Given the description of an element on the screen output the (x, y) to click on. 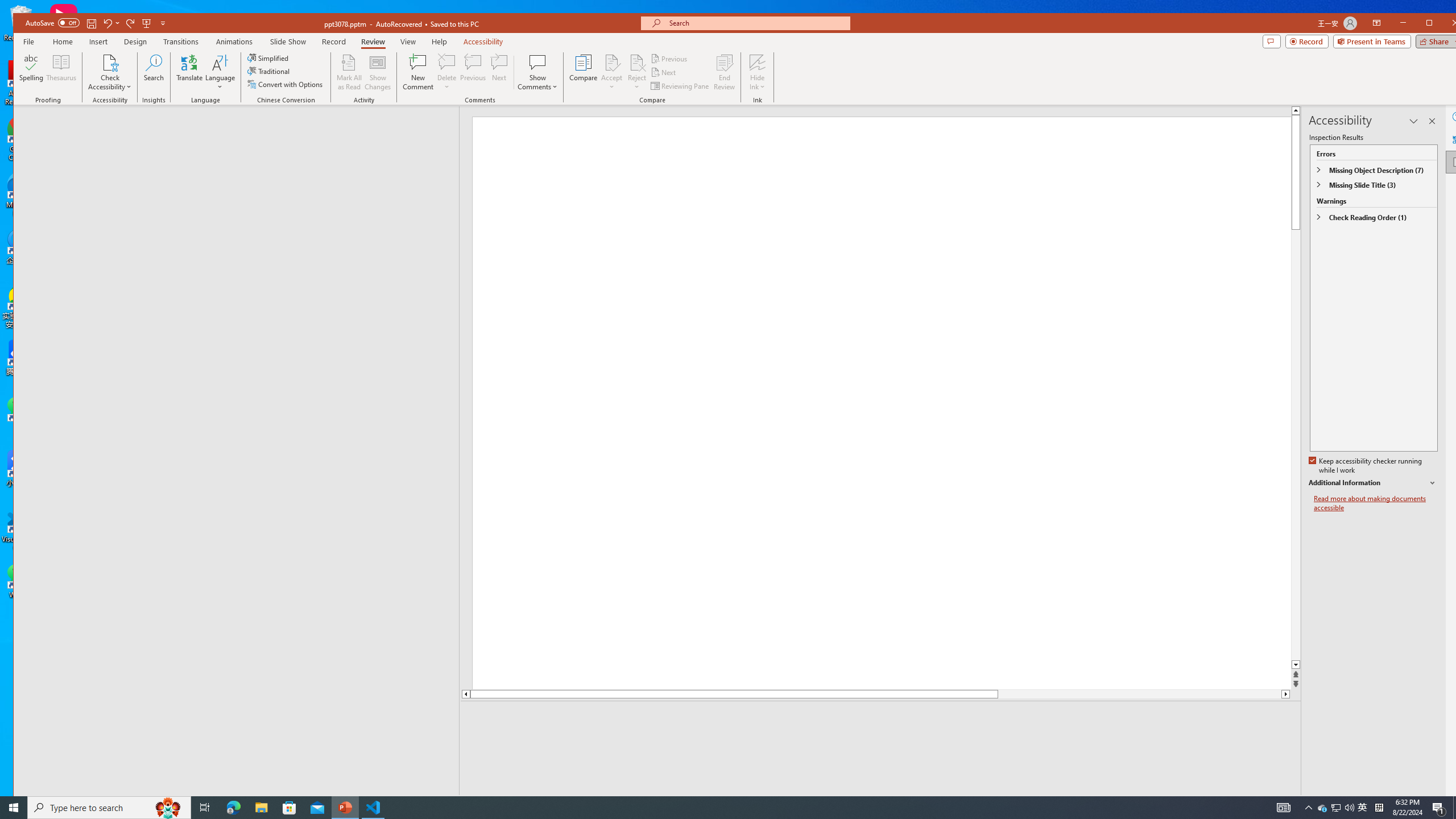
Thesaurus... (61, 72)
Reject Change (636, 61)
Slide Show Previous On (1217, 802)
Compare (582, 72)
New Comment (418, 72)
Convert with Options... (286, 83)
